Given the description of an element on the screen output the (x, y) to click on. 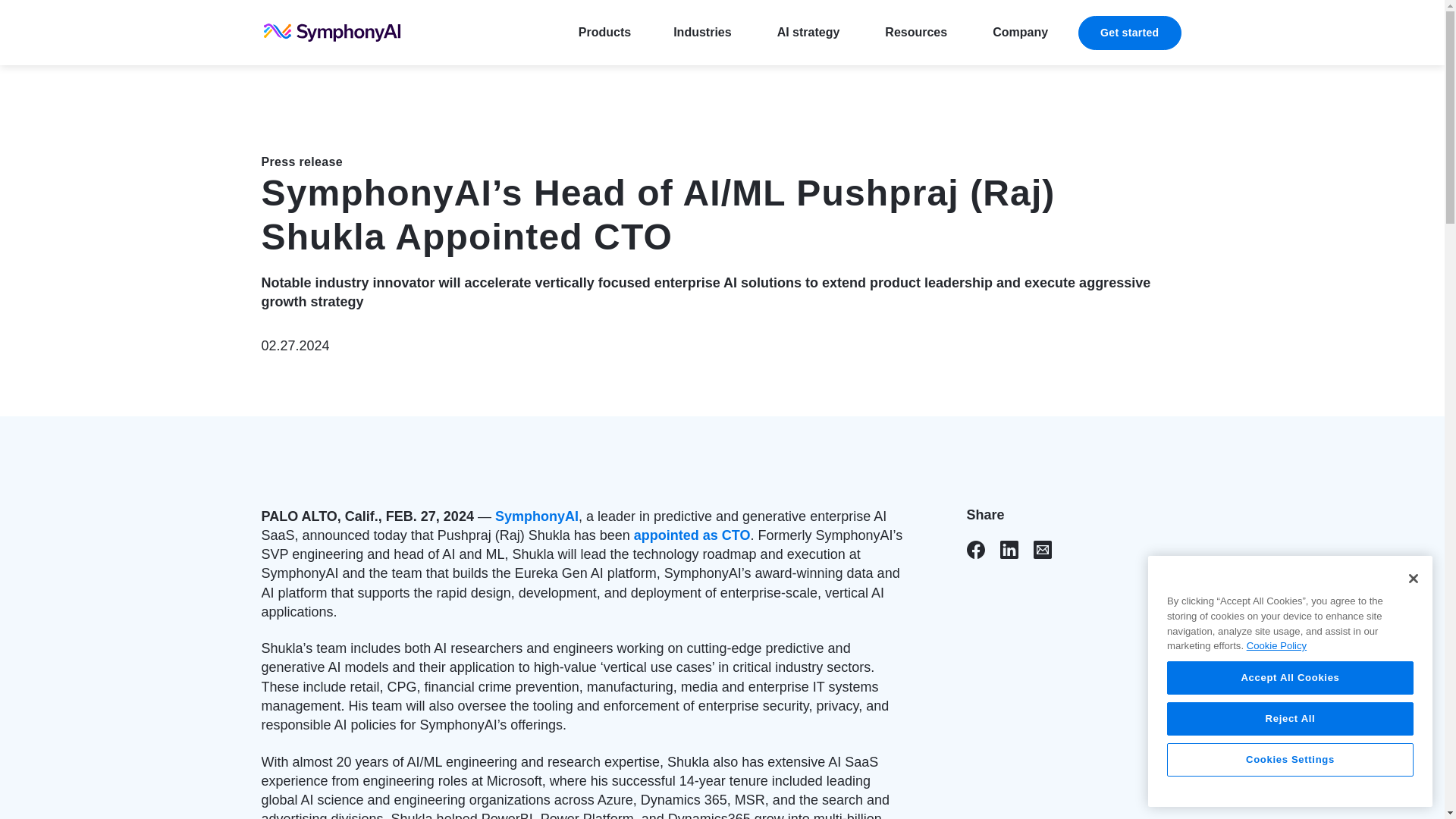
Facebook Icon Svg (975, 549)
Resources (915, 32)
AI strategy (808, 32)
Get started (1129, 32)
Company (1019, 32)
Linkedin Icon Svg (1007, 549)
Industries (701, 32)
Products (604, 32)
Mail Icon Svg (1041, 549)
